Given the description of an element on the screen output the (x, y) to click on. 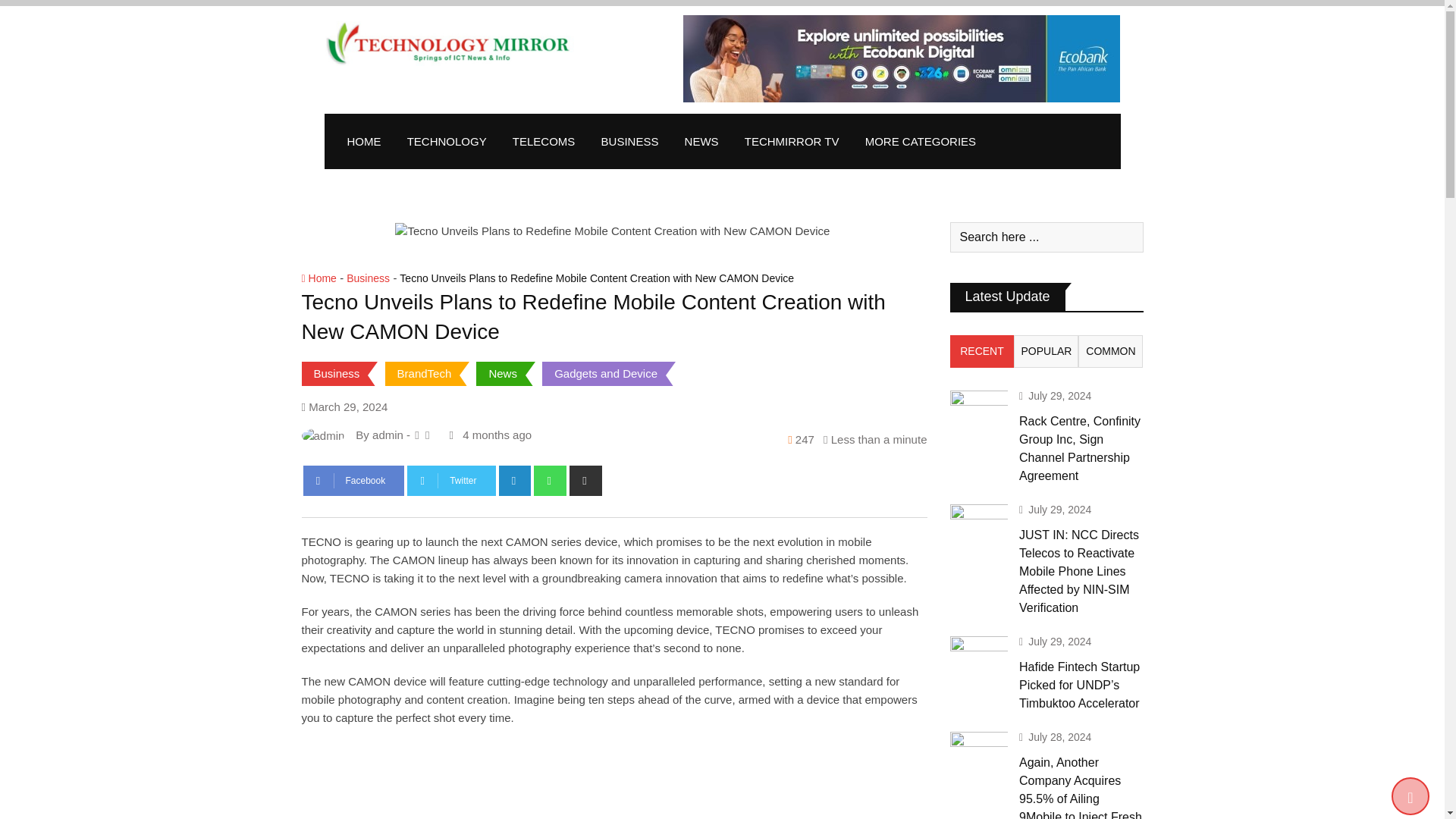
TECHMIRROR TV (791, 140)
MORE CATEGORIES (920, 140)
BUSINESS (629, 140)
TELECOMS (543, 140)
NEWS (701, 140)
HOME (362, 140)
TECHNOLOGY (446, 140)
